Given the description of an element on the screen output the (x, y) to click on. 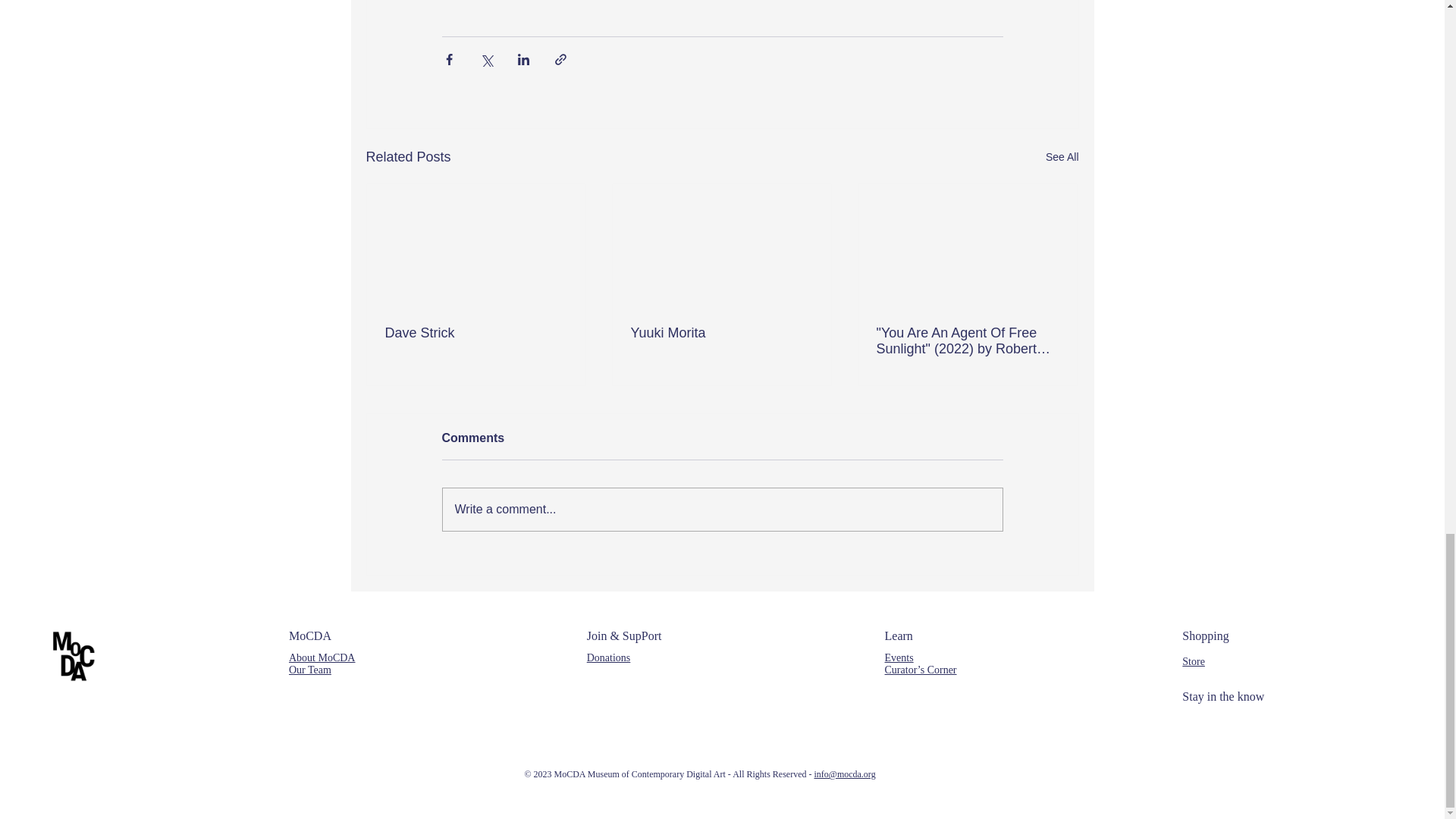
Dave Strick (476, 333)
See All (1061, 157)
Yuuki Morita (721, 333)
Write a comment... (722, 509)
